Given the description of an element on the screen output the (x, y) to click on. 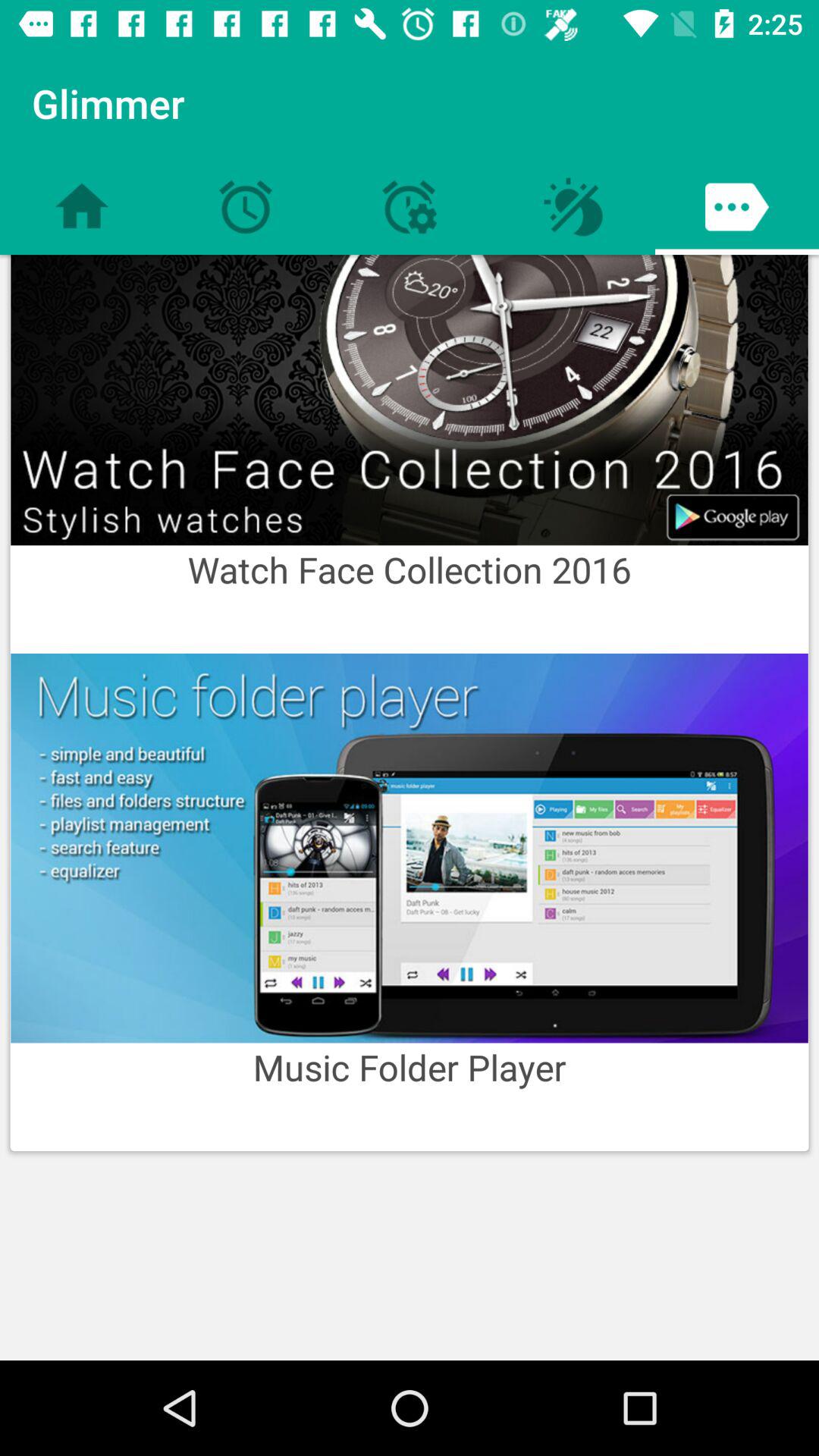
button indicates music folder (409, 848)
